Given the description of an element on the screen output the (x, y) to click on. 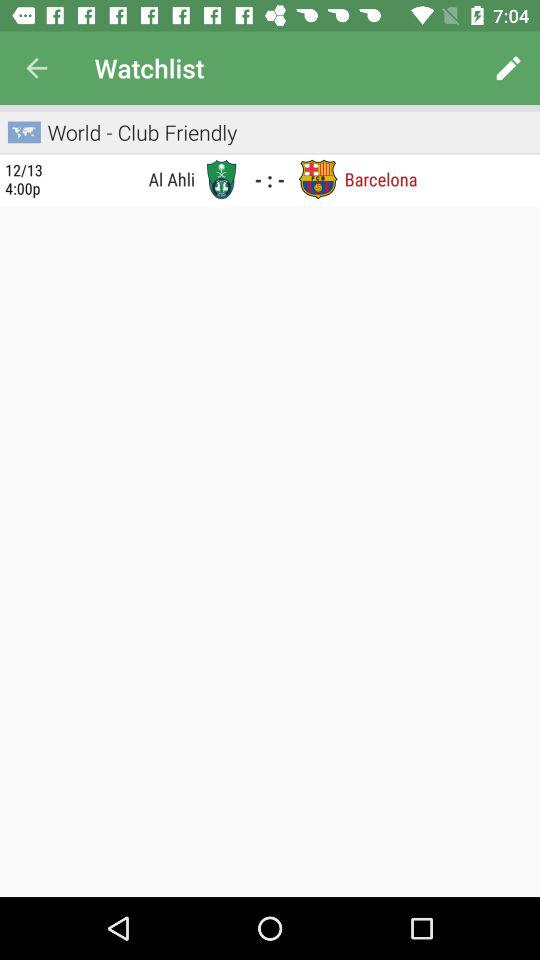
select item to the right of the watchlist (508, 67)
